Given the description of an element on the screen output the (x, y) to click on. 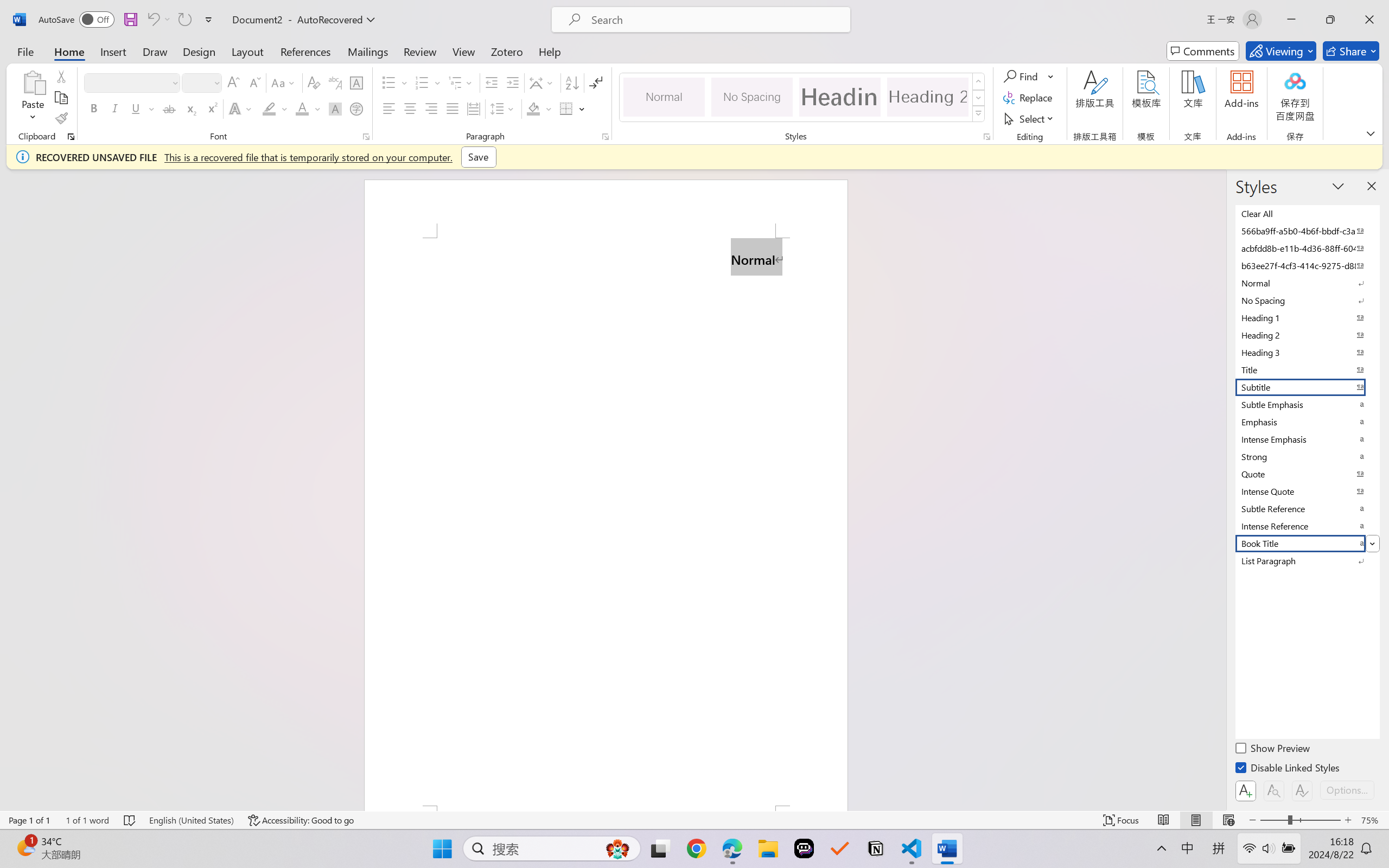
Text Highlight Color Yellow (269, 108)
Change Case (284, 82)
Format Painter (60, 118)
Heading 1 (839, 96)
Book Title (1306, 543)
Help (549, 51)
Class: NetUIScrollBar (1219, 489)
